Given the description of an element on the screen output the (x, y) to click on. 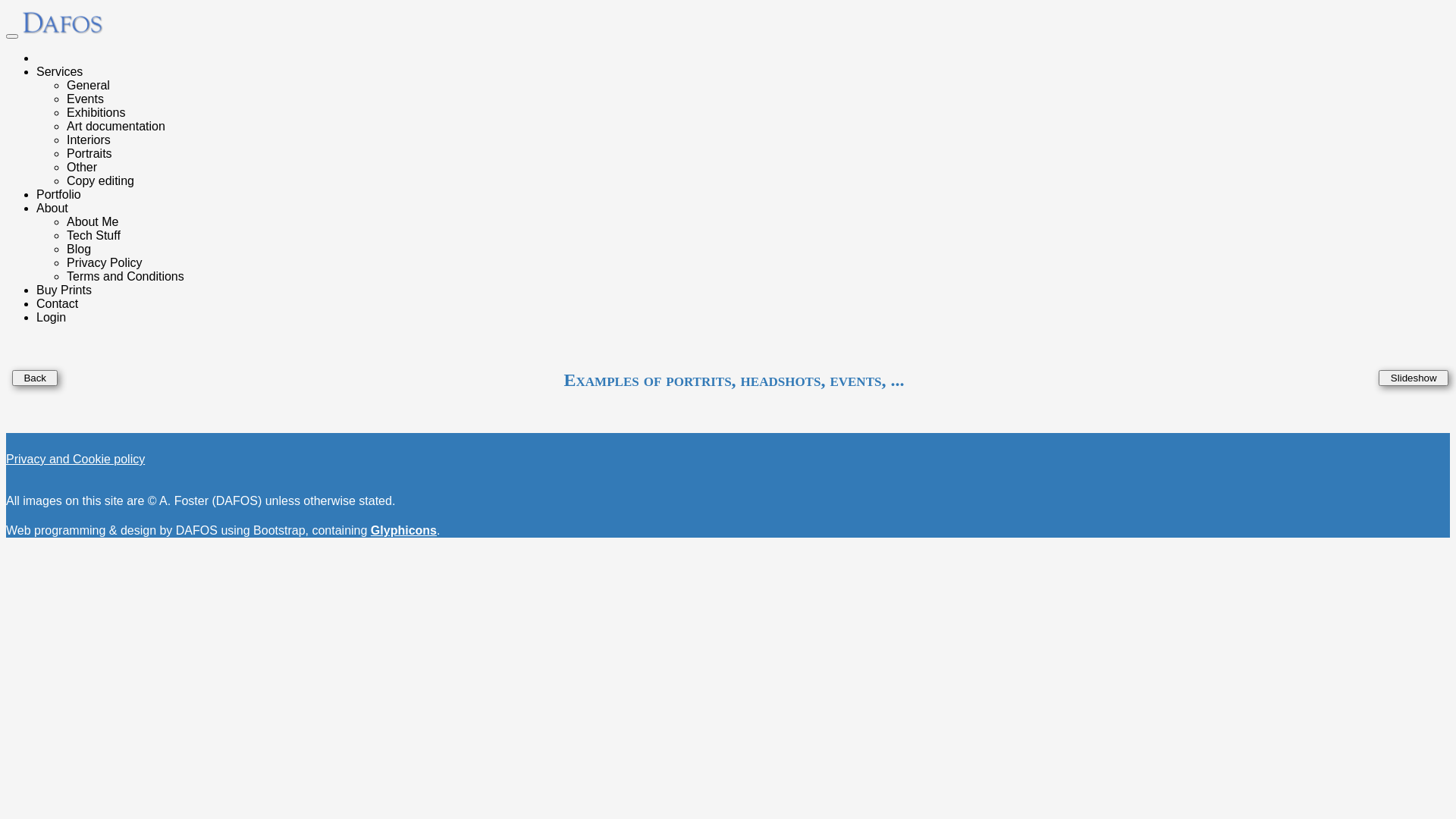
Events Element type: text (84, 98)
  Back   Element type: text (34, 377)
Blog Element type: text (78, 248)
Copy editing Element type: text (100, 180)
Privacy and Cookie policy Element type: text (75, 459)
About Me Element type: text (92, 221)
Buy Prints Element type: text (63, 289)
Glyphicons Element type: text (403, 530)
Services Element type: text (59, 71)
Exhibitions Element type: text (95, 112)
Art documentation Element type: text (115, 125)
Contact Element type: text (57, 303)
About Element type: text (52, 207)
General Element type: text (87, 84)
  Slideshow   Element type: text (1413, 377)
Portfolio Element type: text (58, 194)
Other Element type: text (81, 166)
Login Element type: text (50, 316)
Tech Stuff Element type: text (93, 235)
Interiors Element type: text (88, 139)
Privacy Policy Element type: text (104, 262)
Terms and Conditions Element type: text (125, 275)
Portraits Element type: text (89, 153)
